Given the description of an element on the screen output the (x, y) to click on. 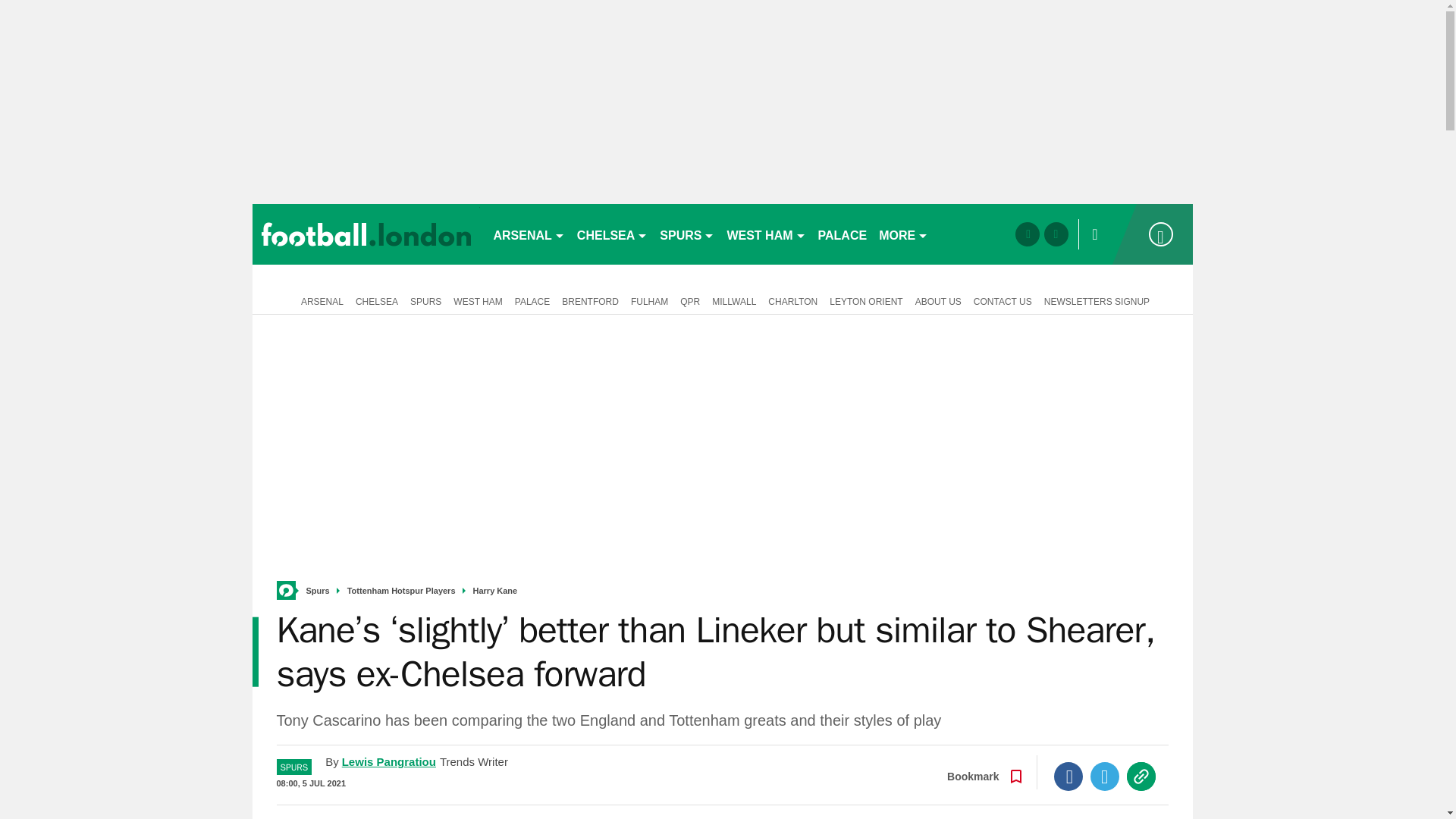
MORE (903, 233)
WEST HAM (765, 233)
Facebook (1068, 776)
PALACE (842, 233)
twitter (1055, 233)
ARSENAL (528, 233)
CHELSEA (611, 233)
footballlondon (365, 233)
Twitter (1104, 776)
SPURS (686, 233)
